Given the description of an element on the screen output the (x, y) to click on. 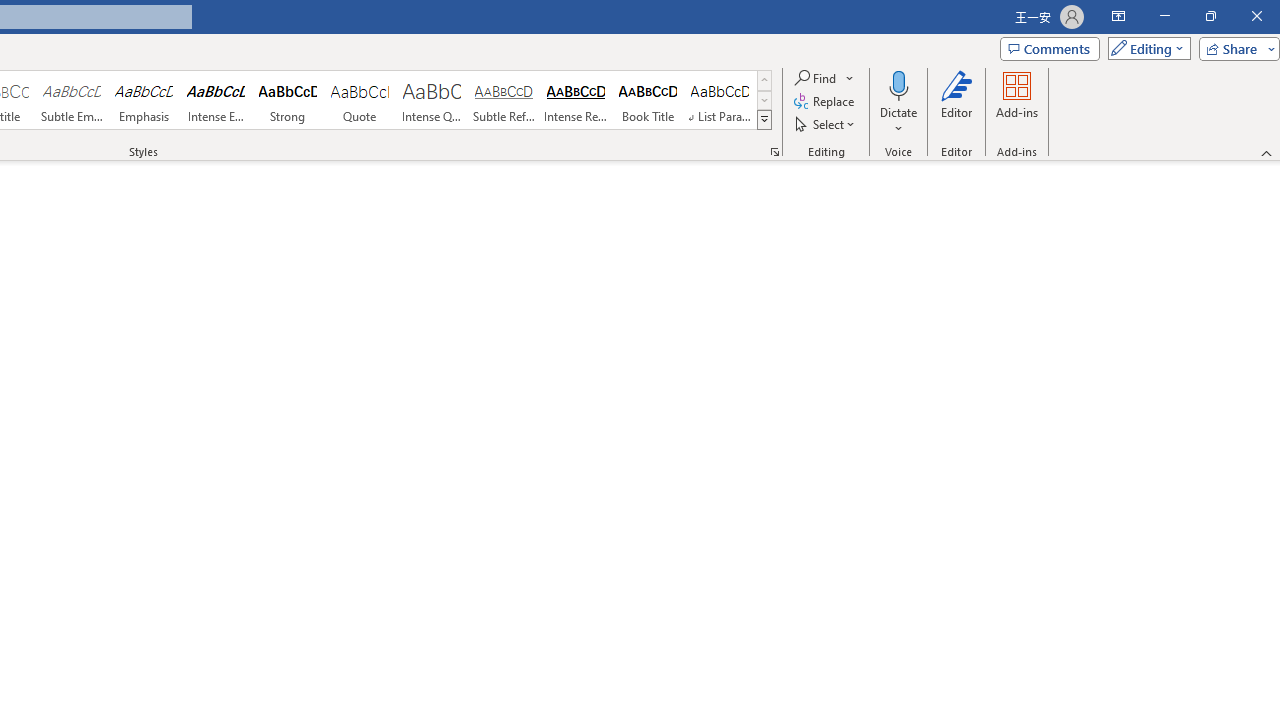
Intense Emphasis (216, 100)
Intense Reference (575, 100)
Strong (287, 100)
Emphasis (143, 100)
Book Title (647, 100)
